Given the description of an element on the screen output the (x, y) to click on. 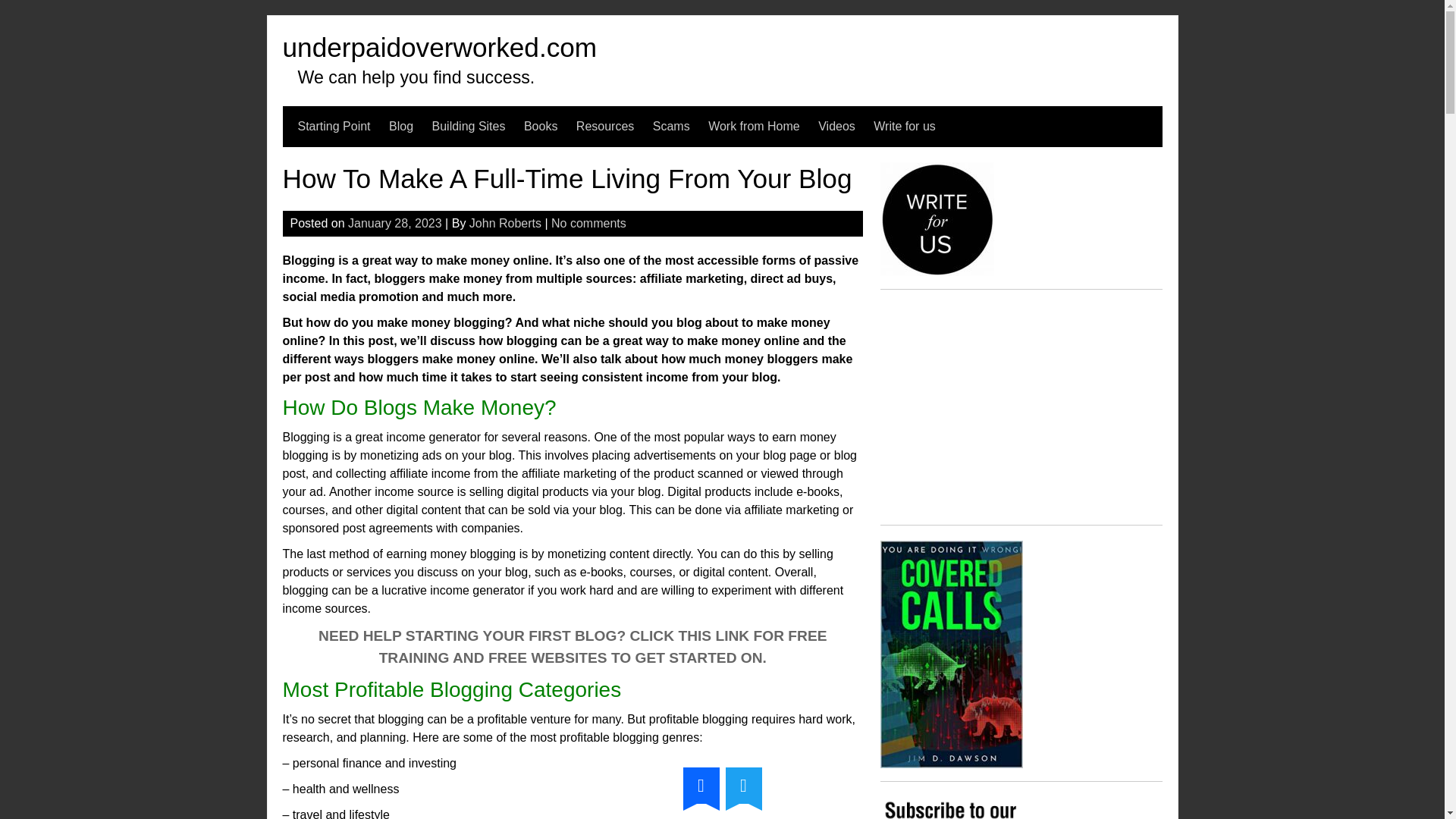
Building Sites (468, 126)
Starting Point (333, 126)
Facebook (700, 785)
Work from Home (753, 126)
Resources (604, 126)
Advertisement (1020, 410)
Scams (671, 126)
underpaidoverworked.com (439, 47)
Twitter (743, 785)
underpaidoverworked.com (439, 47)
